Given the description of an element on the screen output the (x, y) to click on. 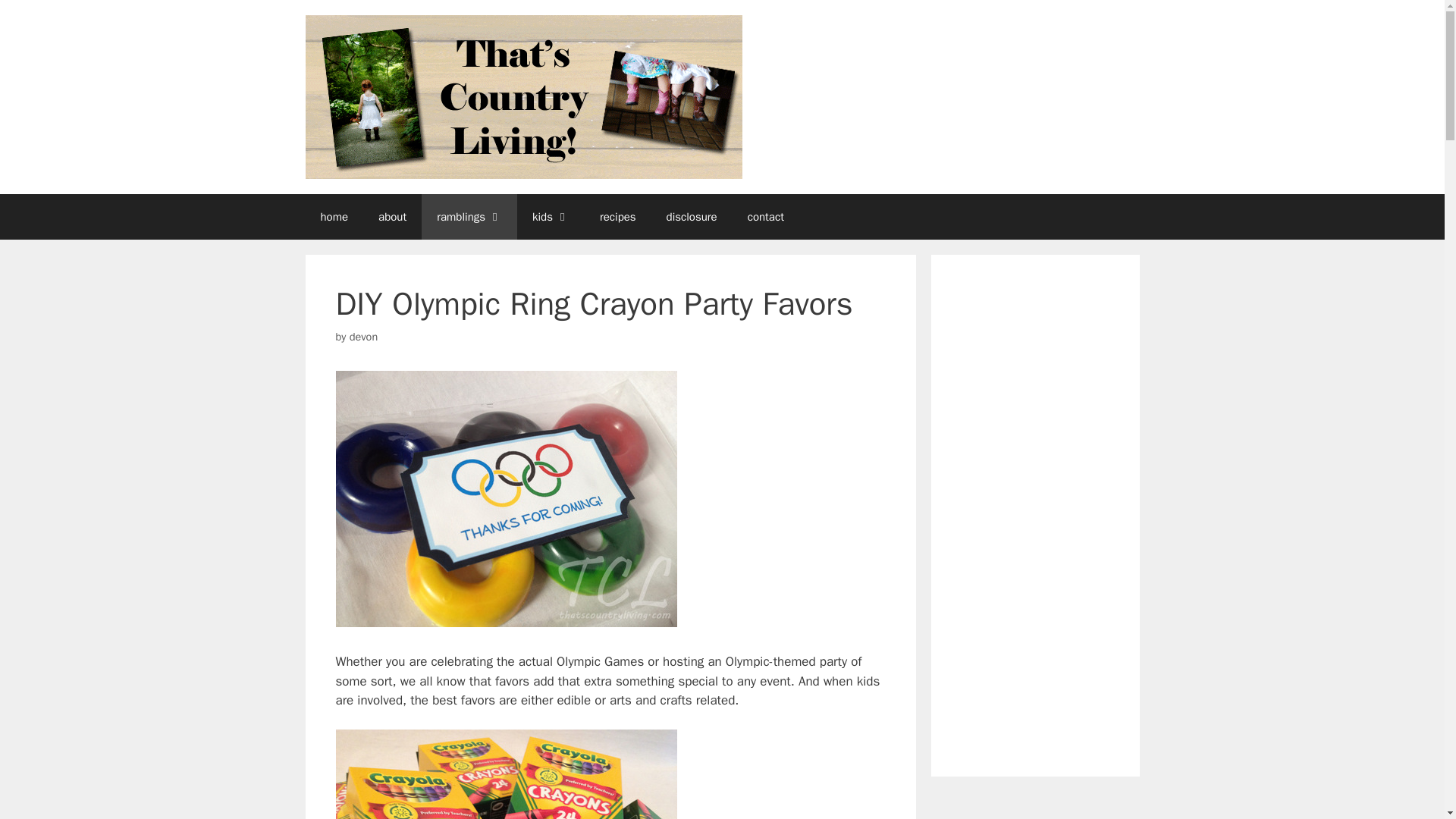
about (392, 216)
devon (363, 336)
home (333, 216)
kids (550, 216)
Boxes of Crayola Crayons TCL (505, 774)
contact (765, 216)
olympics rings crayons b TCL (505, 499)
ramblings (469, 216)
recipes (617, 216)
disclosure (691, 216)
View all posts by devon (363, 336)
